Given the description of an element on the screen output the (x, y) to click on. 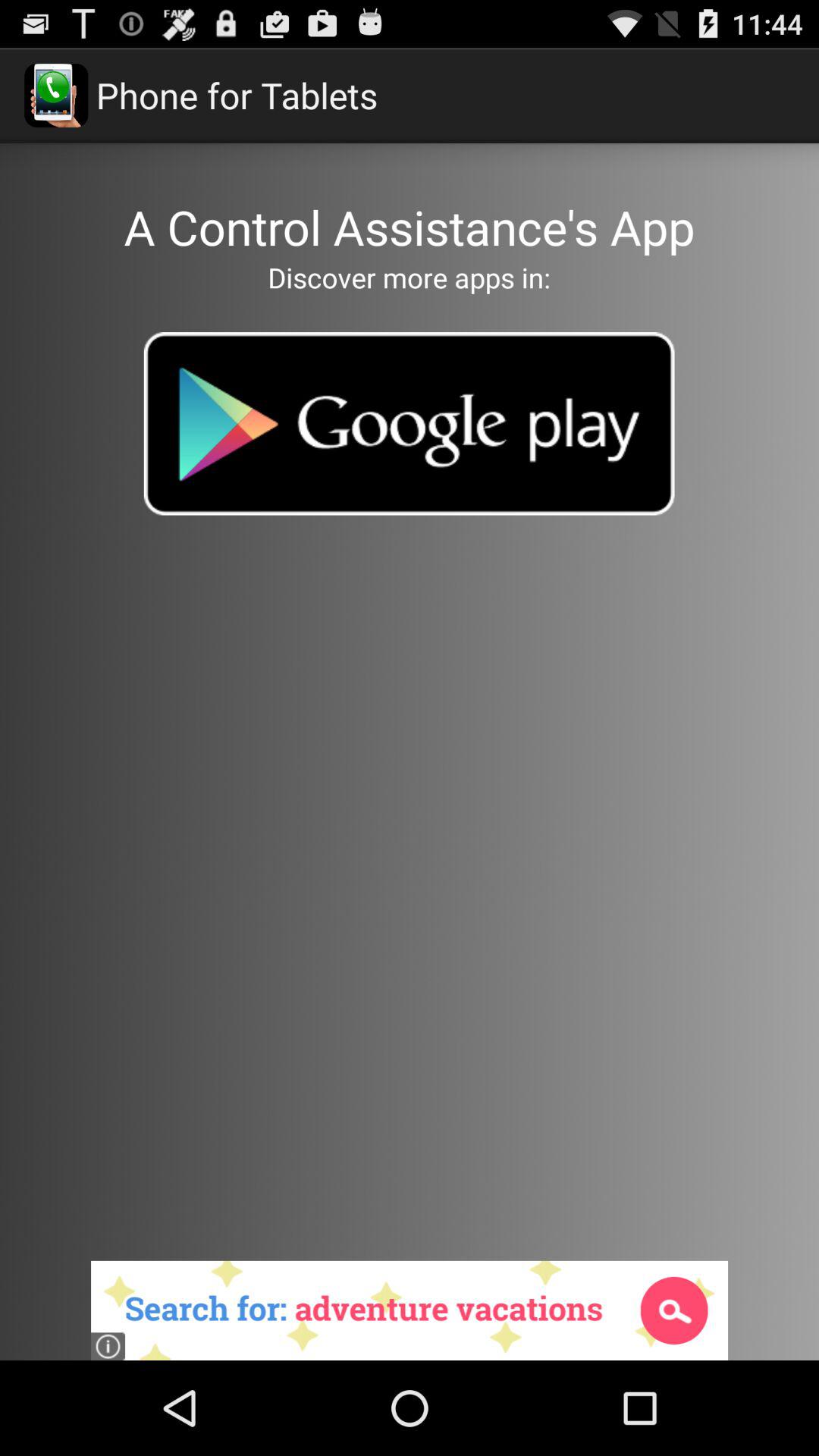
start google play (408, 423)
